Given the description of an element on the screen output the (x, y) to click on. 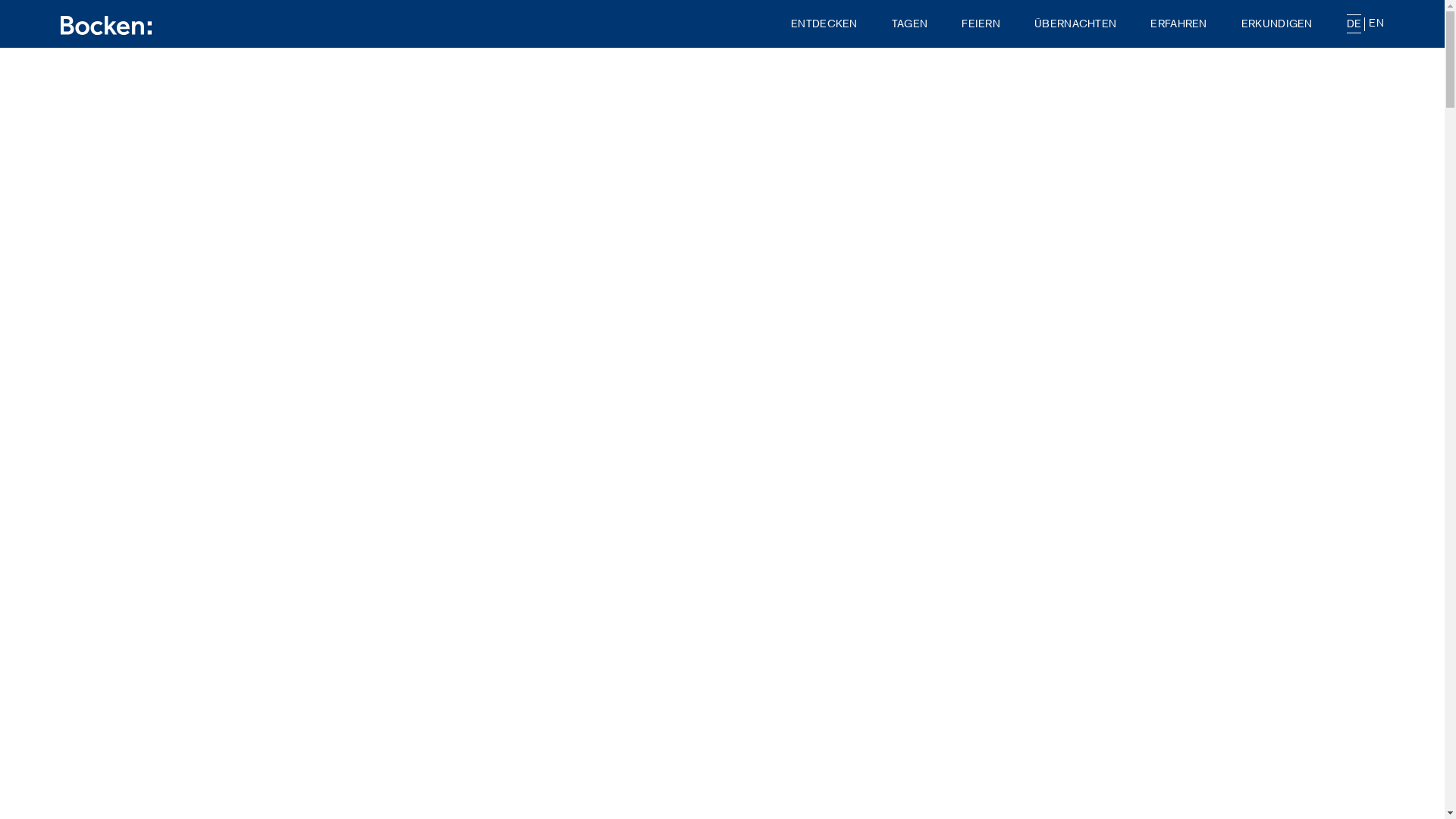
TAGEN Element type: text (909, 23)
FEIERN Element type: text (980, 23)
ERFAHREN Element type: text (1178, 23)
ENTDECKEN Element type: text (823, 23)
ERKUNDIGEN Element type: text (1276, 23)
Bocken Element type: hover (105, 24)
EN Element type: text (1375, 22)
Home Element type: hover (105, 23)
